Given the description of an element on the screen output the (x, y) to click on. 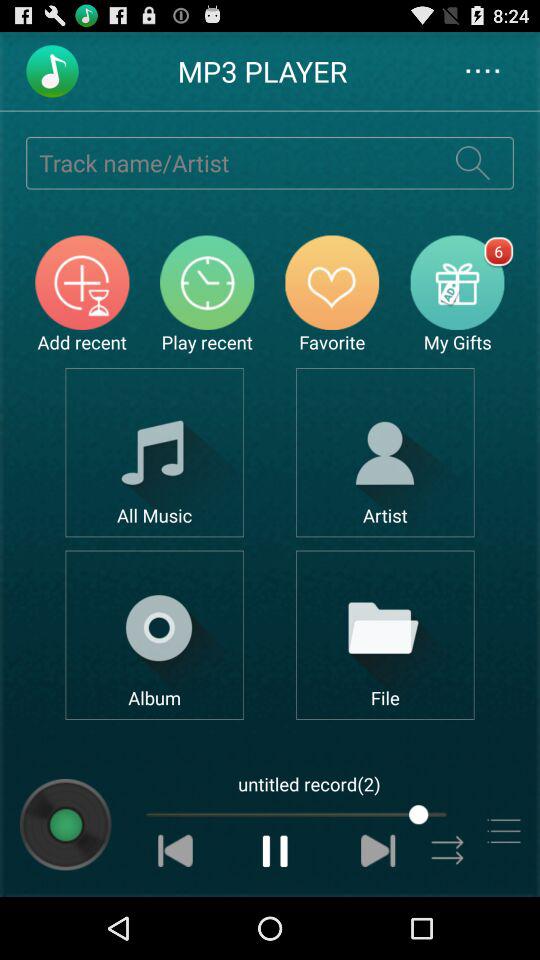
view all songs (154, 452)
